Given the description of an element on the screen output the (x, y) to click on. 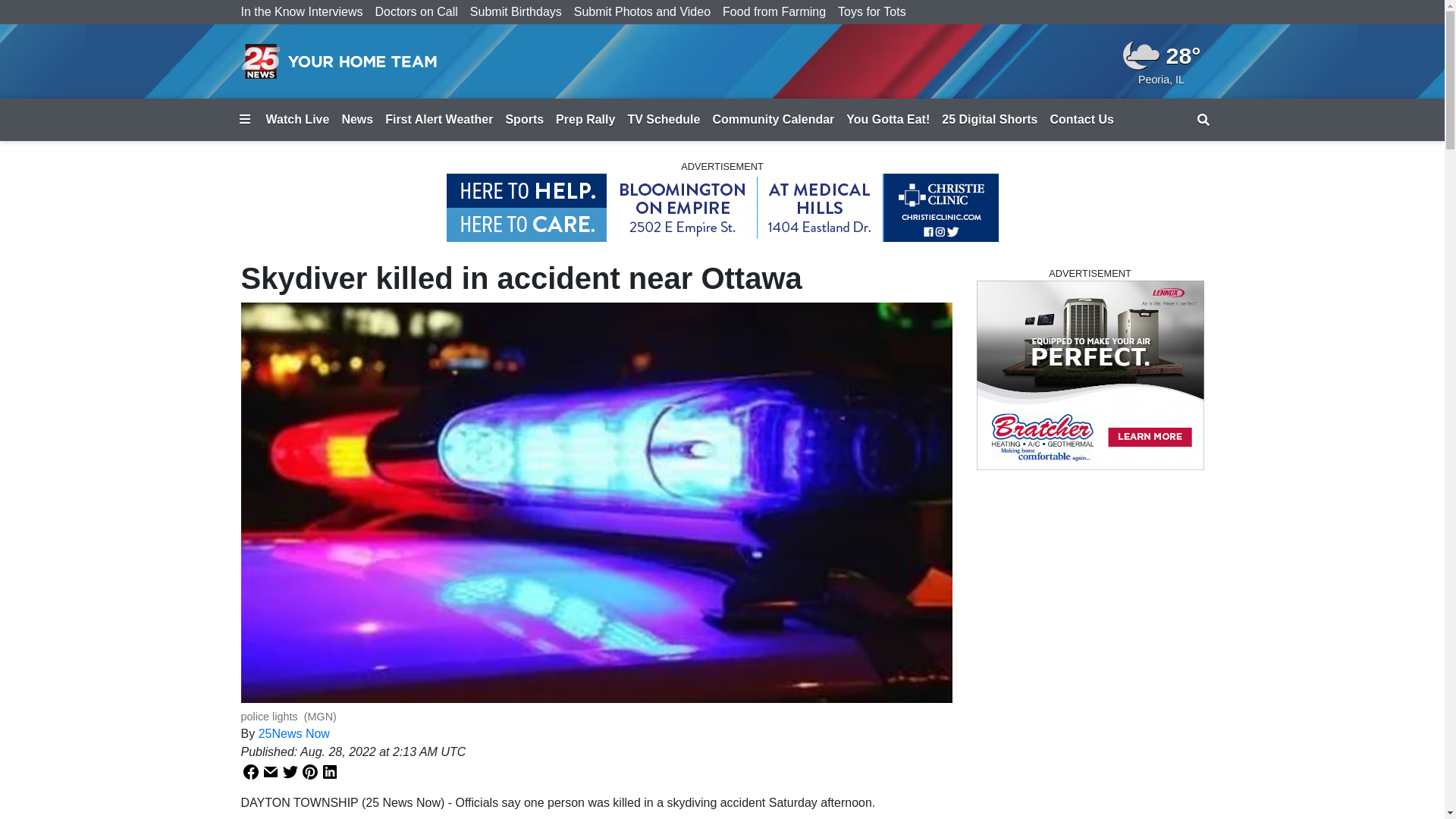
News Element type: text (357, 119)
Watch Live Element type: text (297, 119)
25 Digital Shorts Element type: text (989, 119)
25News Now Element type: text (293, 733)
Prep Rally Element type: text (585, 119)
Community Calendar Element type: text (773, 119)
Submit Birthdays Element type: text (515, 11)
Toys for Tots Element type: text (871, 11)
You Gotta Eat! Element type: text (887, 119)
Submit Photos and Video Element type: text (642, 11)
3rd party ad content Element type: hover (1090, 375)
3rd party ad content Element type: hover (721, 207)
In the Know Interviews Element type: text (302, 11)
Doctors on Call Element type: text (415, 11)
First Alert Weather Element type: text (438, 119)
TV Schedule Element type: text (663, 119)
Food from Farming Element type: text (773, 11)
Sports Element type: text (523, 119)
Contact Us Element type: text (1081, 119)
